Given the description of an element on the screen output the (x, y) to click on. 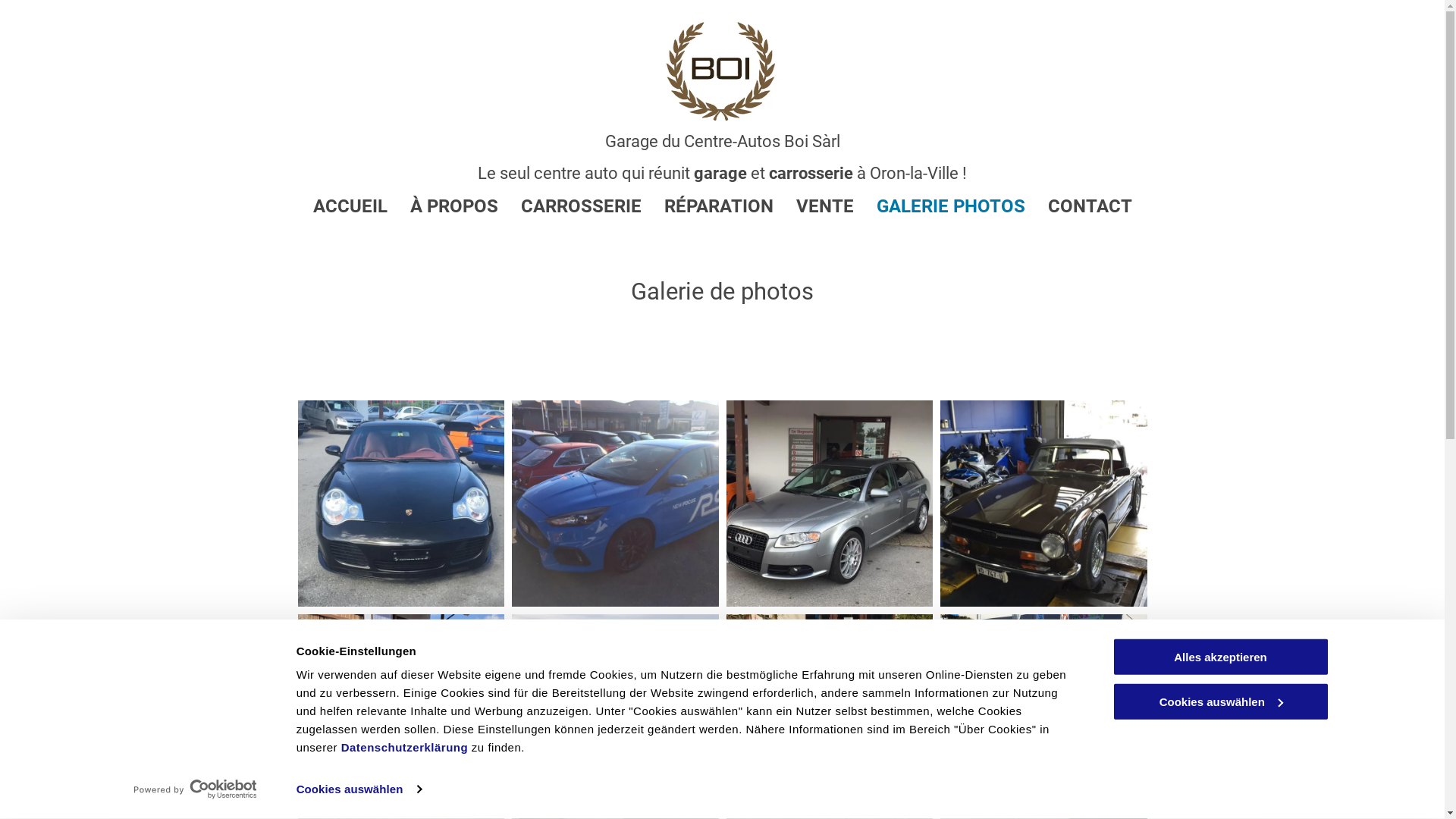
Alles akzeptieren Element type: text (1219, 656)
VENTE Element type: text (813, 205)
CARROSSERIE Element type: text (568, 205)
CONTACT Element type: text (1078, 205)
ACCUEIL Element type: text (337, 205)
GALERIE PHOTOS Element type: text (939, 205)
